Given the description of an element on the screen output the (x, y) to click on. 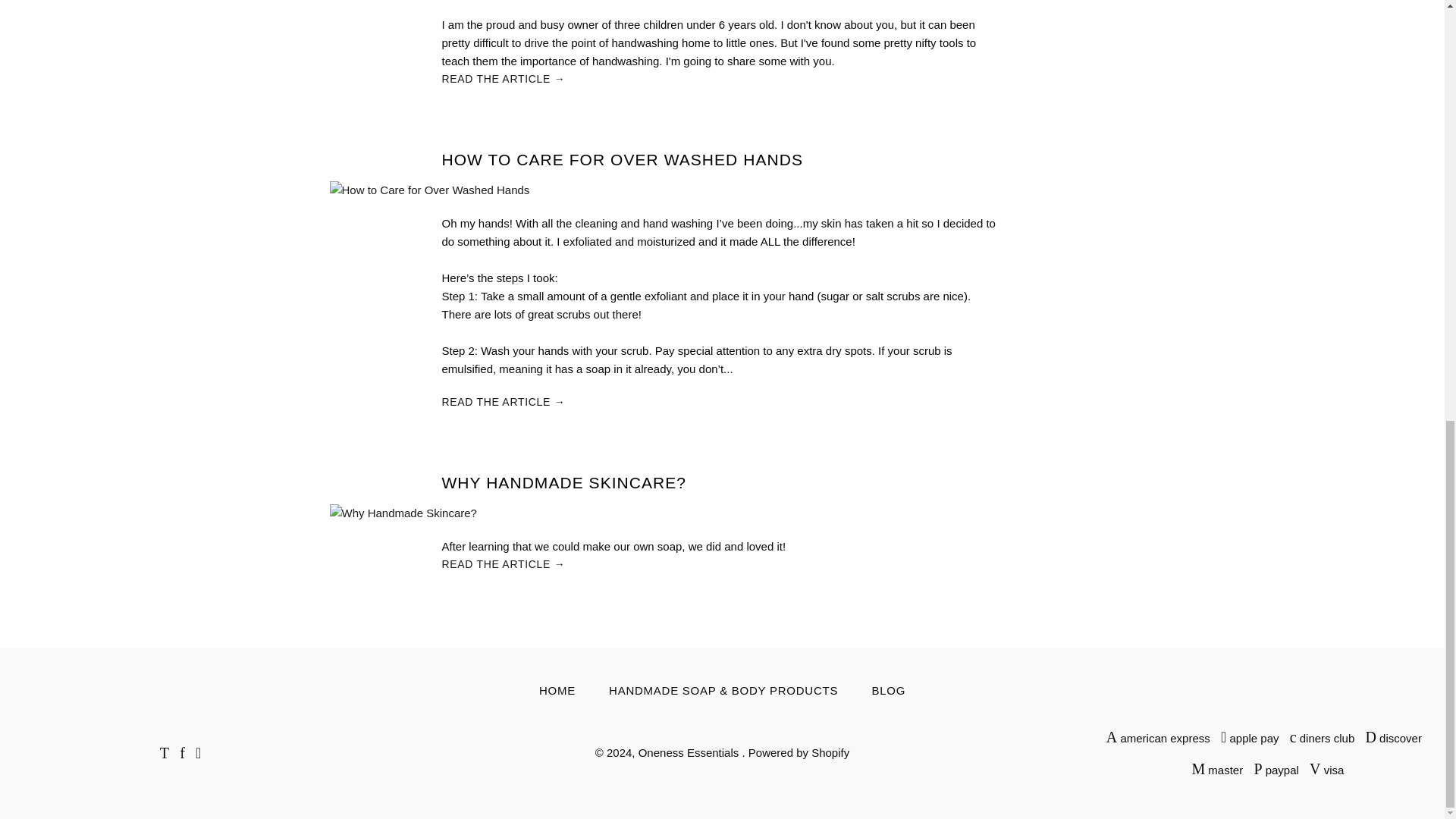
HOW TO CARE FOR OVER WASHED HANDS (621, 159)
HOME (557, 689)
WHY HANDMADE SKINCARE? (563, 482)
